Given the description of an element on the screen output the (x, y) to click on. 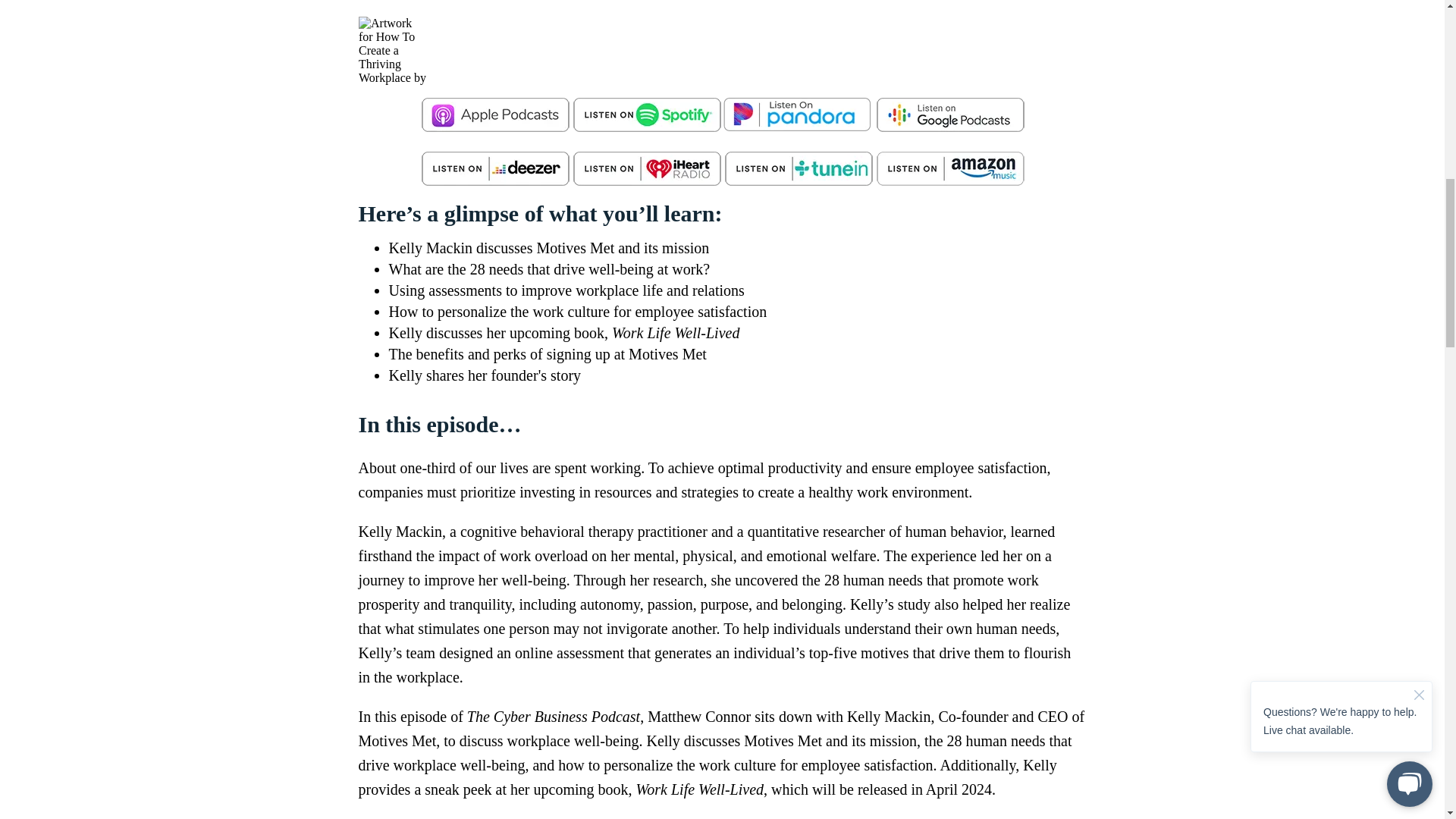
Libsyn Player (722, 50)
